Given the description of an element on the screen output the (x, y) to click on. 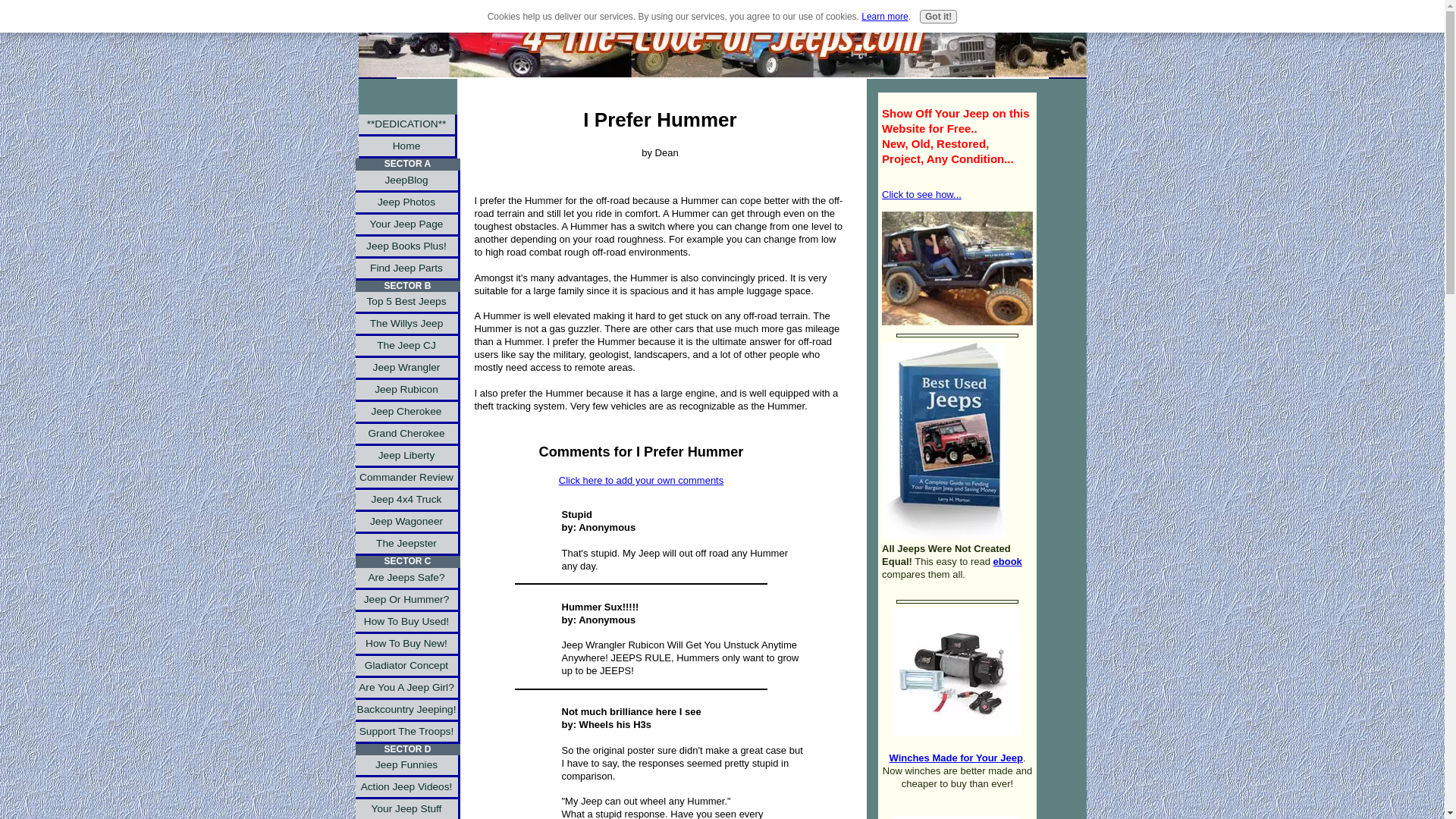
The Willys Jeep (407, 324)
Click here to add your own comments (641, 480)
Top 5 Best Jeeps (407, 302)
How To Buy Used! (407, 622)
Gladiator Concept (407, 667)
The Jeepster (407, 544)
Support The Troops! (407, 732)
Jeep Rubicon (407, 391)
Backcountry Jeeping! (407, 710)
Jeep Wagoneer (407, 522)
Home (407, 147)
Are Jeeps Safe? (407, 578)
The Jeep CJ (407, 346)
How To Buy New! (407, 644)
Commander Review (407, 478)
